Given the description of an element on the screen output the (x, y) to click on. 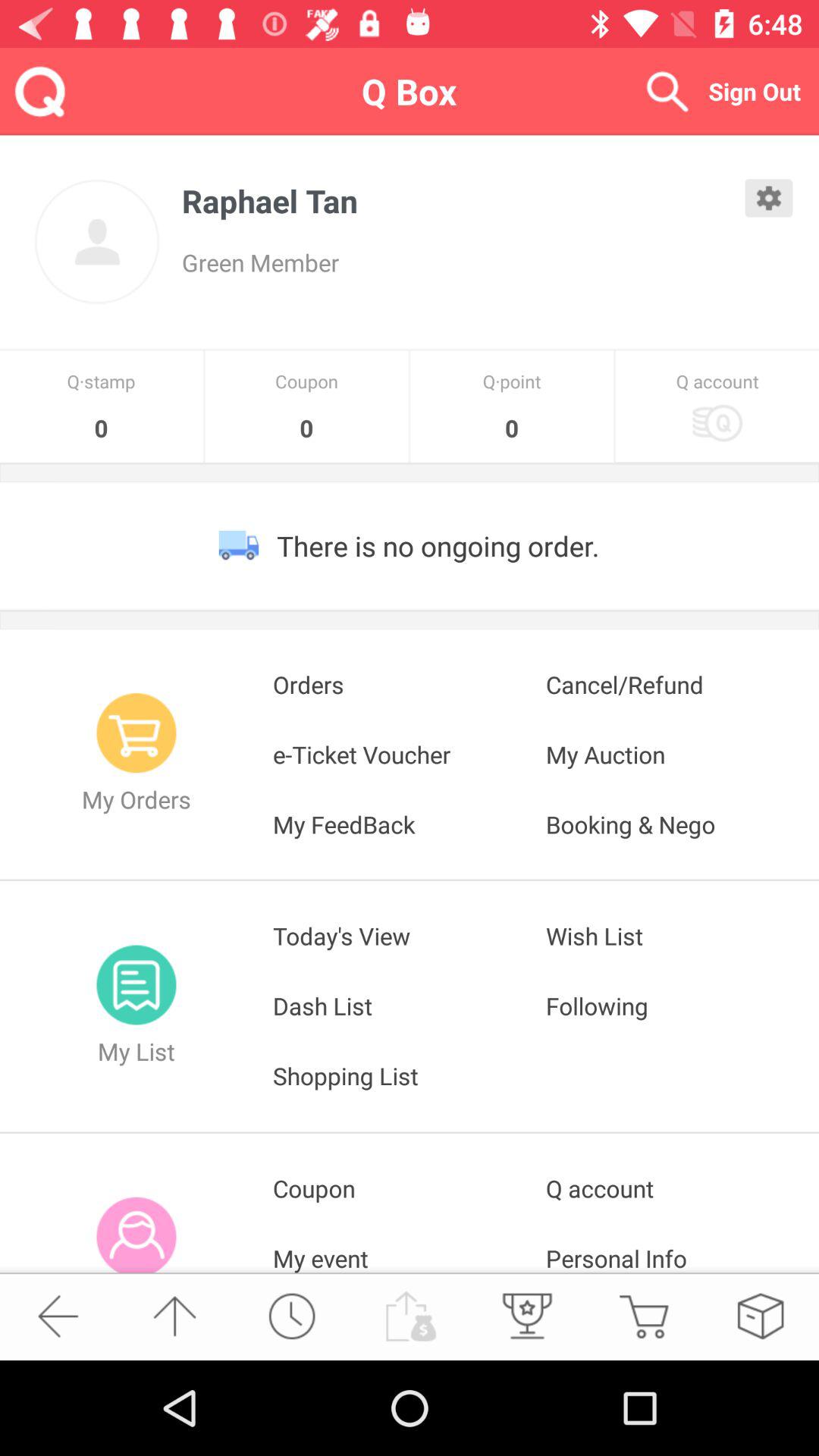
search (666, 91)
